Given the description of an element on the screen output the (x, y) to click on. 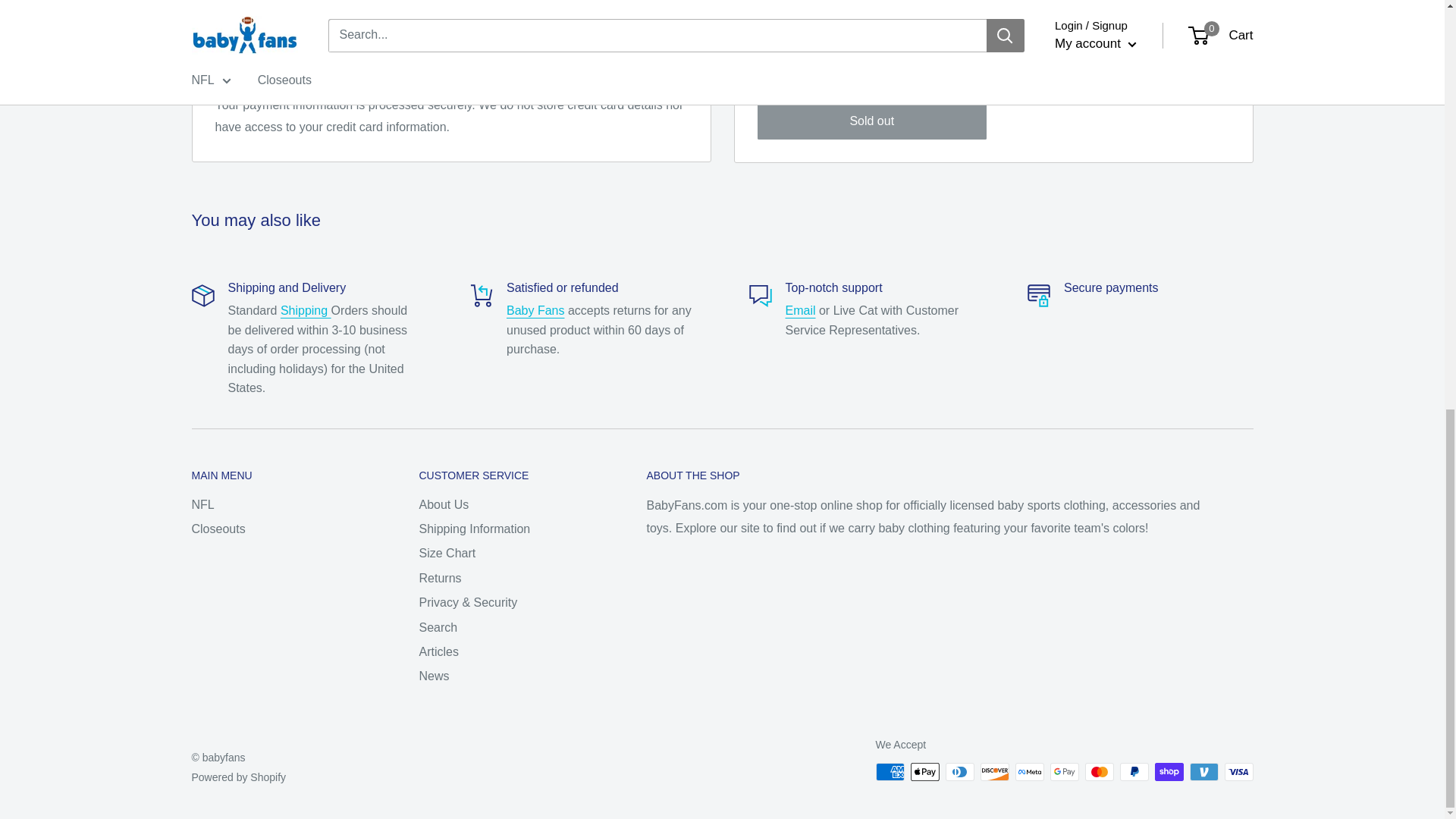
Shipping Policy (306, 309)
Contact Us (800, 309)
Returns (535, 309)
